Given the description of an element on the screen output the (x, y) to click on. 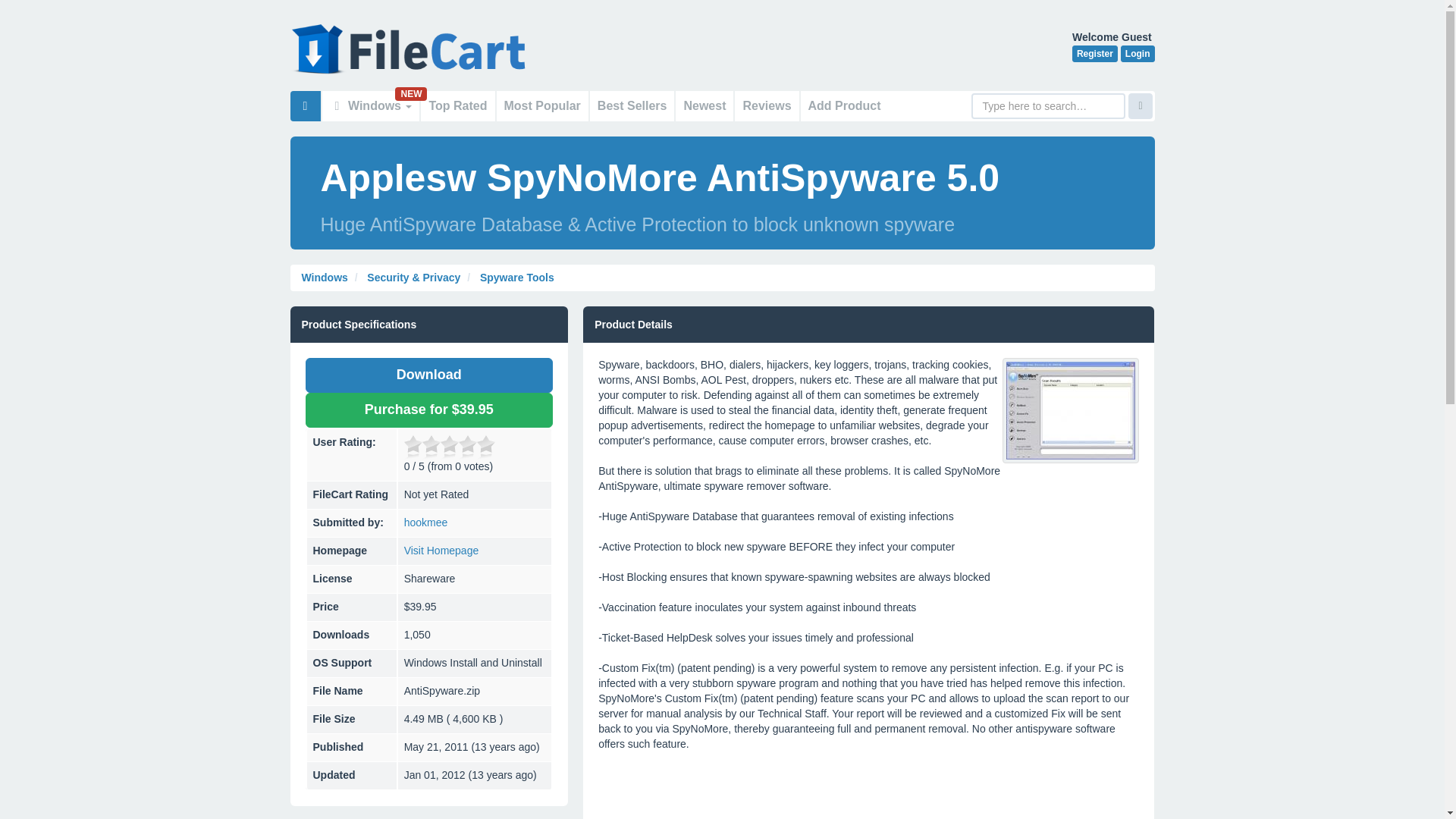
Best Sellers (632, 105)
Windows (324, 277)
Spyware Tools (515, 277)
Reviews (766, 105)
Newest (704, 105)
hookmee (426, 522)
Login (1137, 53)
Register (1094, 53)
FileCart (410, 56)
Top Rated (457, 105)
Advertisement (868, 785)
Windows (370, 105)
Most Popular (542, 105)
Add Product (844, 105)
Download (428, 375)
